Given the description of an element on the screen output the (x, y) to click on. 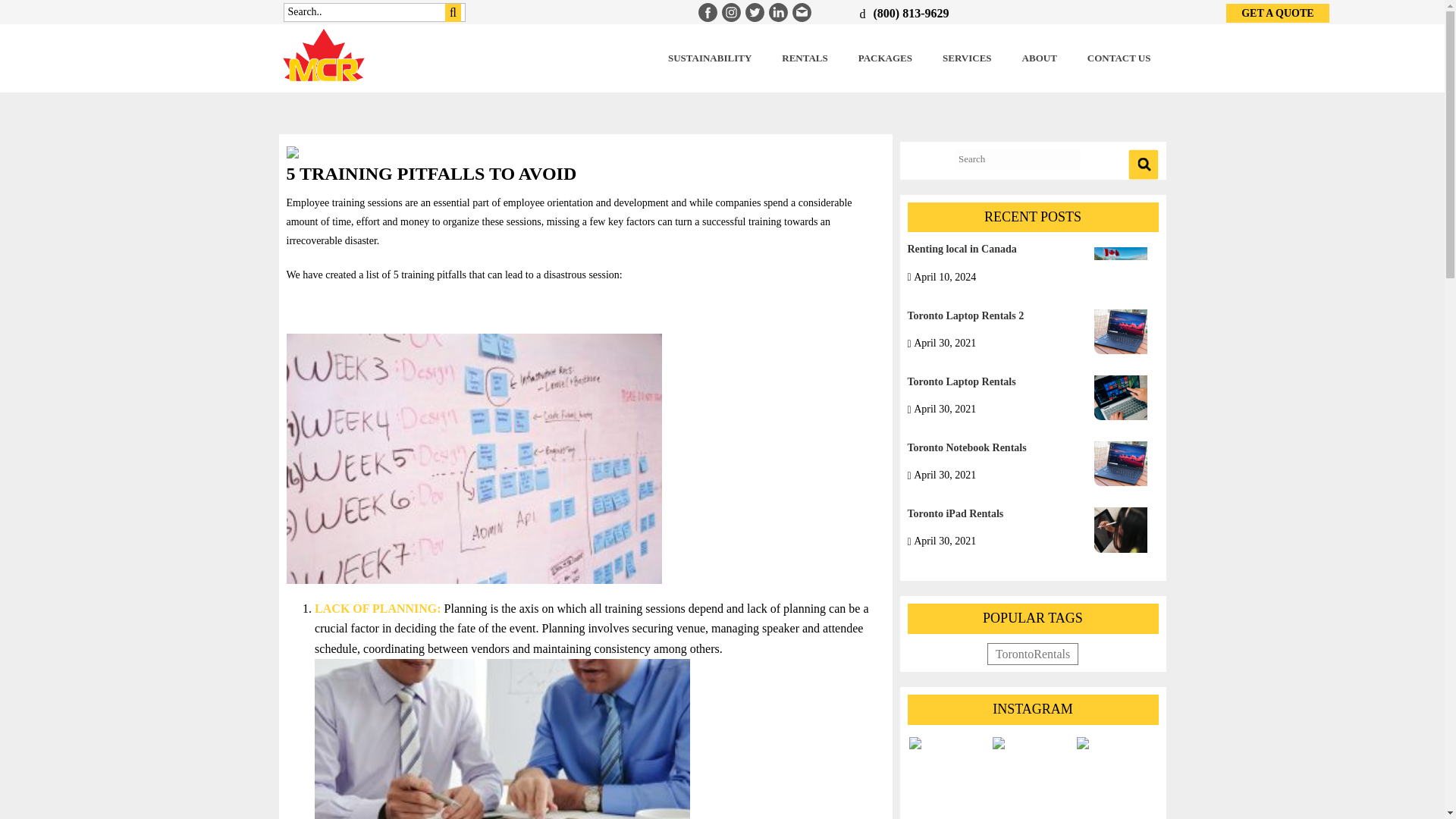
PACKAGES (885, 58)
SUSTAINABILITY (709, 58)
RENTALS (805, 58)
SERVICES (967, 58)
TorontoRentals (1032, 653)
CONTACT US (1118, 58)
GET A QUOTE (1276, 13)
ABOUT (1039, 58)
